Given the description of an element on the screen output the (x, y) to click on. 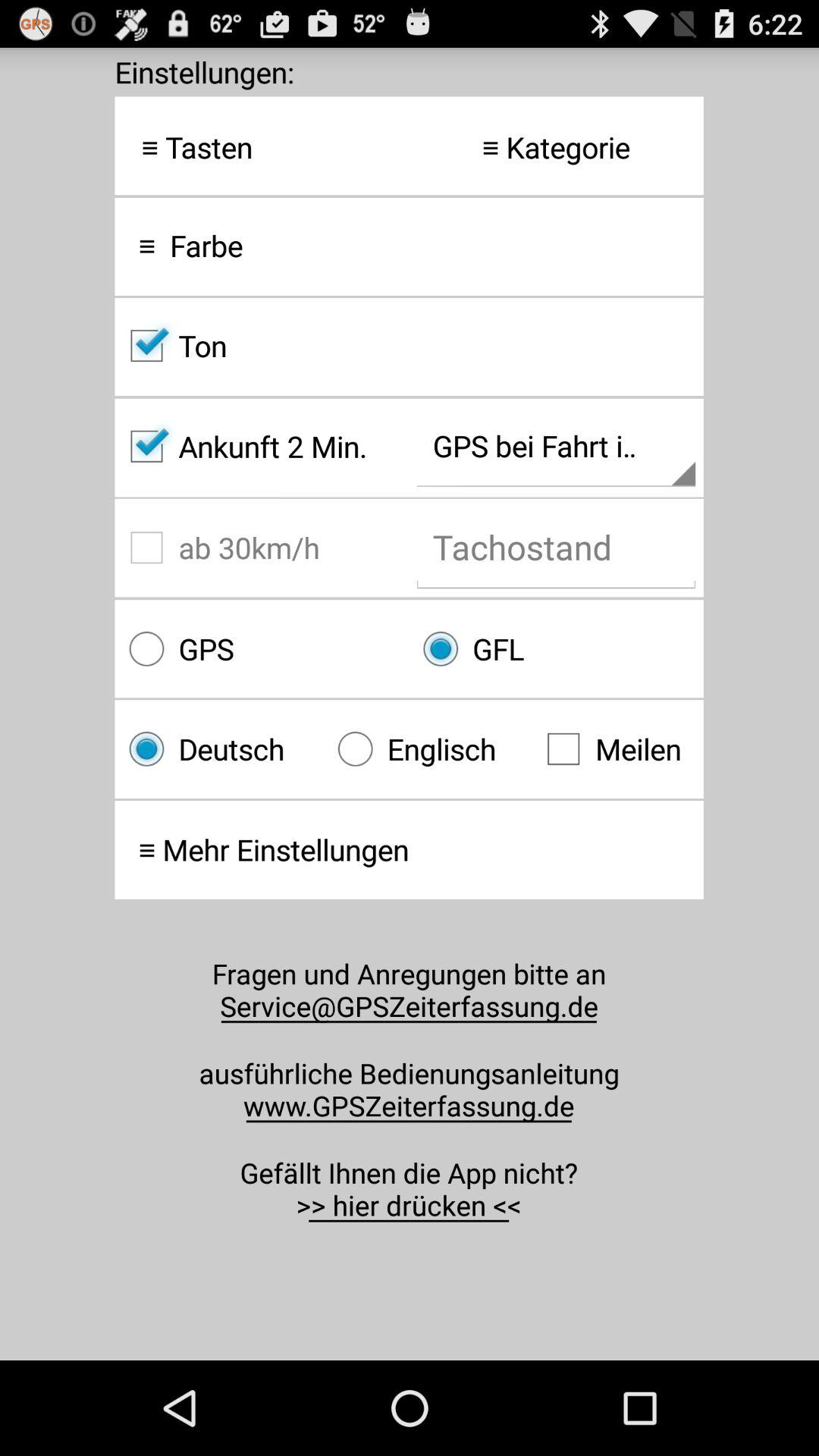
swipe to the ton checkbox (408, 346)
